Given the description of an element on the screen output the (x, y) to click on. 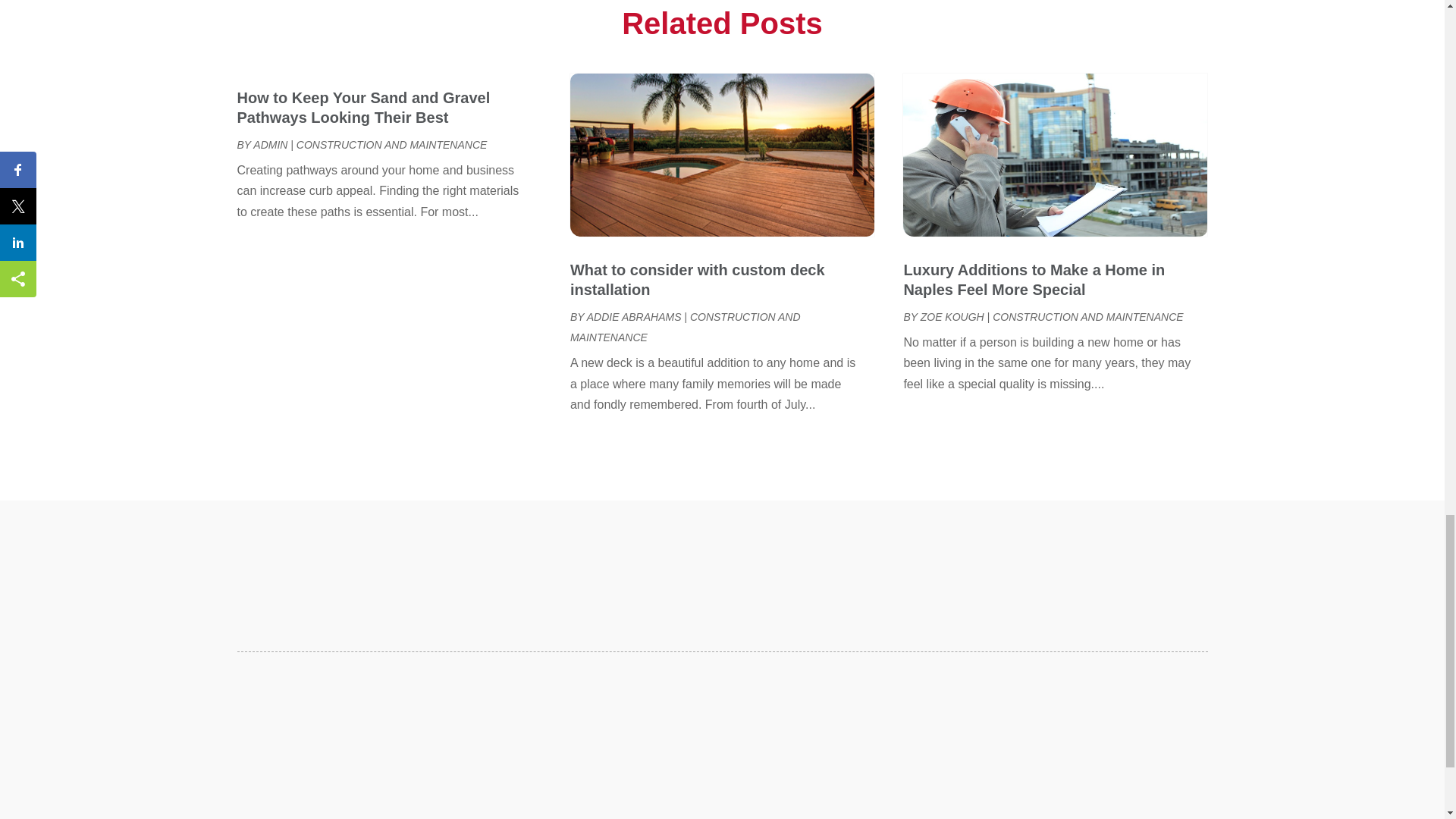
Posts by admin (269, 144)
Posts by Zoe Kough (952, 316)
Posts by Addie Abrahams (633, 316)
